Given the description of an element on the screen output the (x, y) to click on. 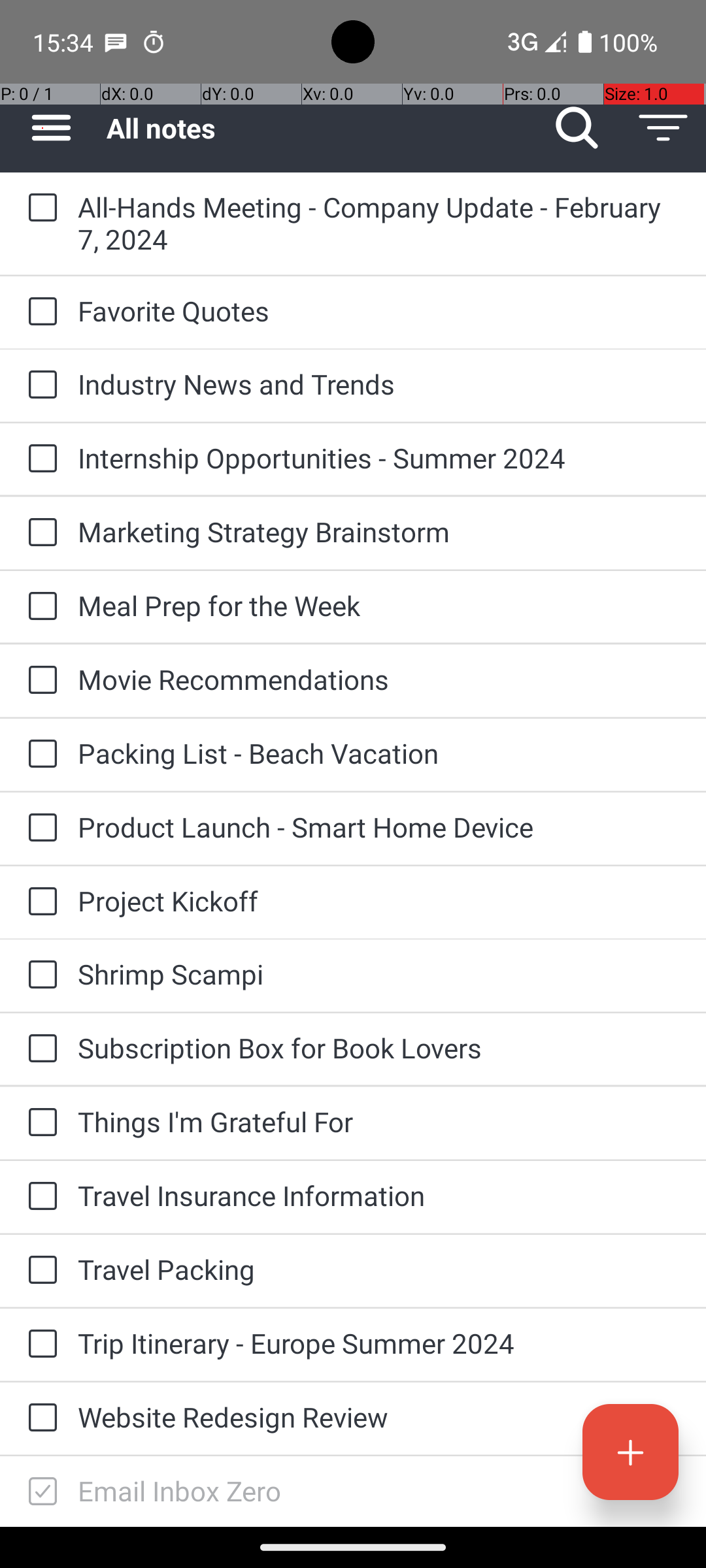
to-do: Favorite Quotes Element type: android.widget.CheckBox (38, 312)
Favorite Quotes Element type: android.widget.TextView (378, 310)
to-do: Industry News and Trends Element type: android.widget.CheckBox (38, 385)
Industry News and Trends Element type: android.widget.TextView (378, 383)
to-do: Marketing Strategy Brainstorm Element type: android.widget.CheckBox (38, 533)
Marketing Strategy Brainstorm Element type: android.widget.TextView (378, 531)
to-do: Meal Prep for the Week Element type: android.widget.CheckBox (38, 606)
to-do: Packing List - Beach Vacation Element type: android.widget.CheckBox (38, 754)
Packing List - Beach Vacation Element type: android.widget.TextView (378, 752)
to-do: Product Launch - Smart Home Device Element type: android.widget.CheckBox (38, 828)
Product Launch - Smart Home Device Element type: android.widget.TextView (378, 826)
to-do: Shrimp Scampi Element type: android.widget.CheckBox (38, 975)
Shrimp Scampi Element type: android.widget.TextView (378, 973)
to-do: Subscription Box for Book Lovers Element type: android.widget.CheckBox (38, 1049)
Subscription Box for Book Lovers Element type: android.widget.TextView (378, 1047)
to-do: Things I'm Grateful For Element type: android.widget.CheckBox (38, 1123)
Things I'm Grateful For Element type: android.widget.TextView (378, 1121)
to-do: Travel Insurance Information Element type: android.widget.CheckBox (38, 1196)
Travel Insurance Information Element type: android.widget.TextView (378, 1194)
to-do: Travel Packing Element type: android.widget.CheckBox (38, 1270)
Travel Packing Element type: android.widget.TextView (378, 1268)
to-do: Website Redesign Review Element type: android.widget.CheckBox (38, 1418)
Website Redesign Review Element type: android.widget.TextView (378, 1416)
to-do: Email Inbox Zero Element type: android.widget.CheckBox (38, 1491)
Email Inbox Zero Element type: android.widget.TextView (378, 1490)
